Given the description of an element on the screen output the (x, y) to click on. 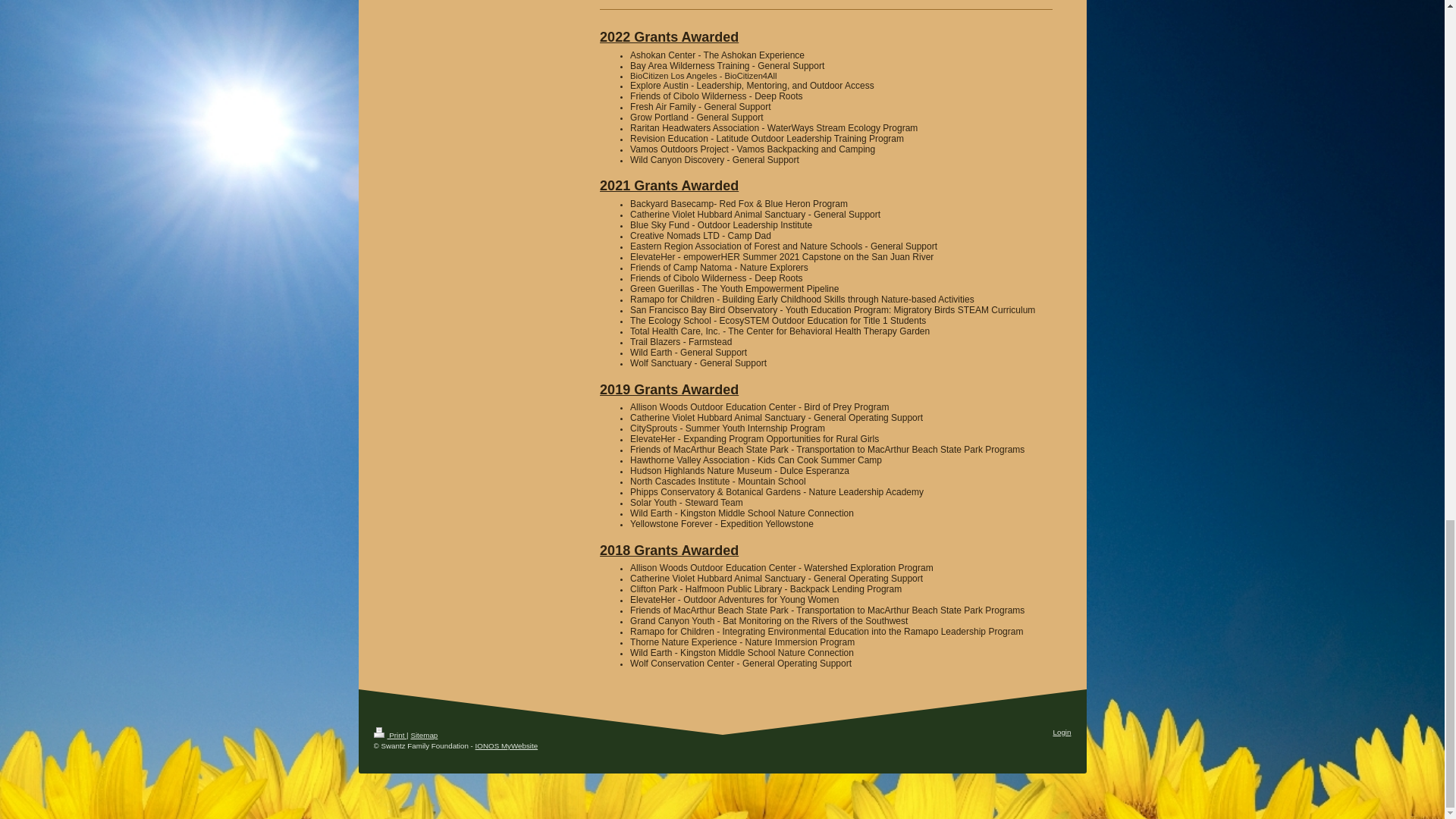
Print (389, 735)
Sitemap (424, 735)
Login (1061, 732)
IONOS MyWebsite (507, 746)
